Given the description of an element on the screen output the (x, y) to click on. 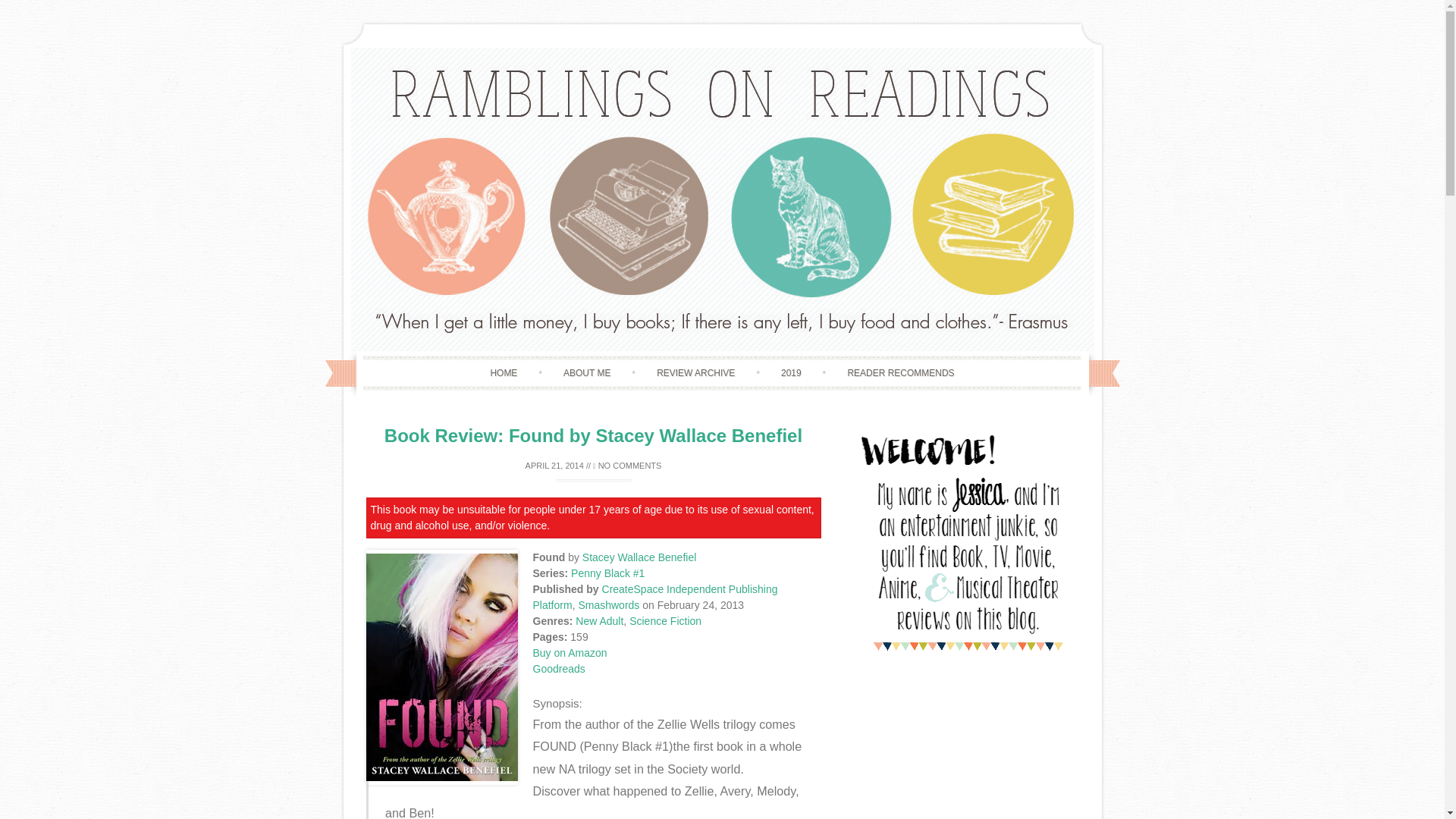
2019 (790, 372)
Smashwords (608, 604)
Stacey Wallace Benefiel (638, 557)
New Adult (599, 621)
CreateSpace Independent Publishing Platform (654, 596)
Book Review: Found by Stacey Wallace Benefiel (593, 435)
12:00 pm (554, 465)
Science Fiction (664, 621)
APRIL 21, 2014 (554, 465)
